Given the description of an element on the screen output the (x, y) to click on. 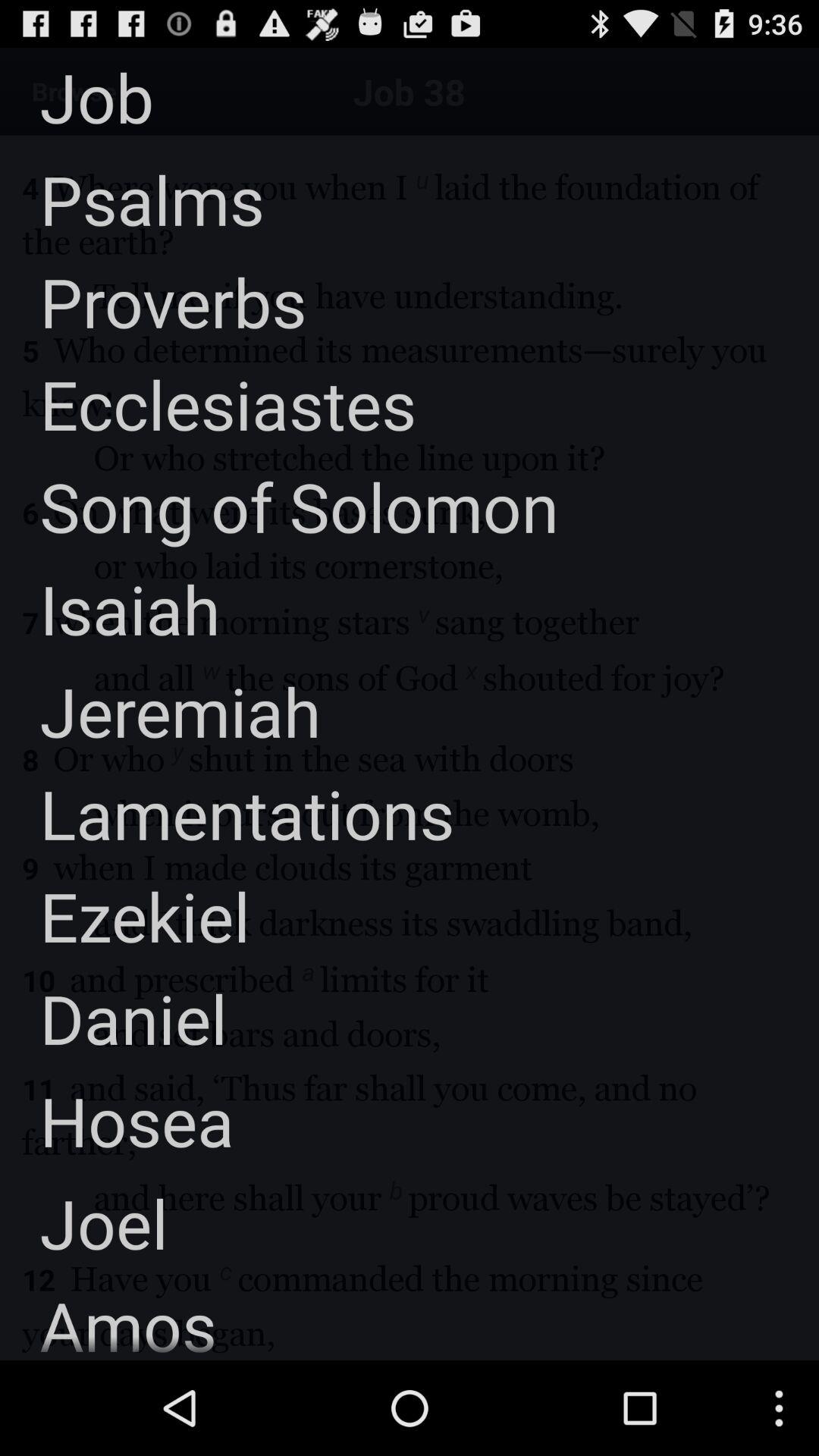
tap item above psalms app (77, 96)
